Given the description of an element on the screen output the (x, y) to click on. 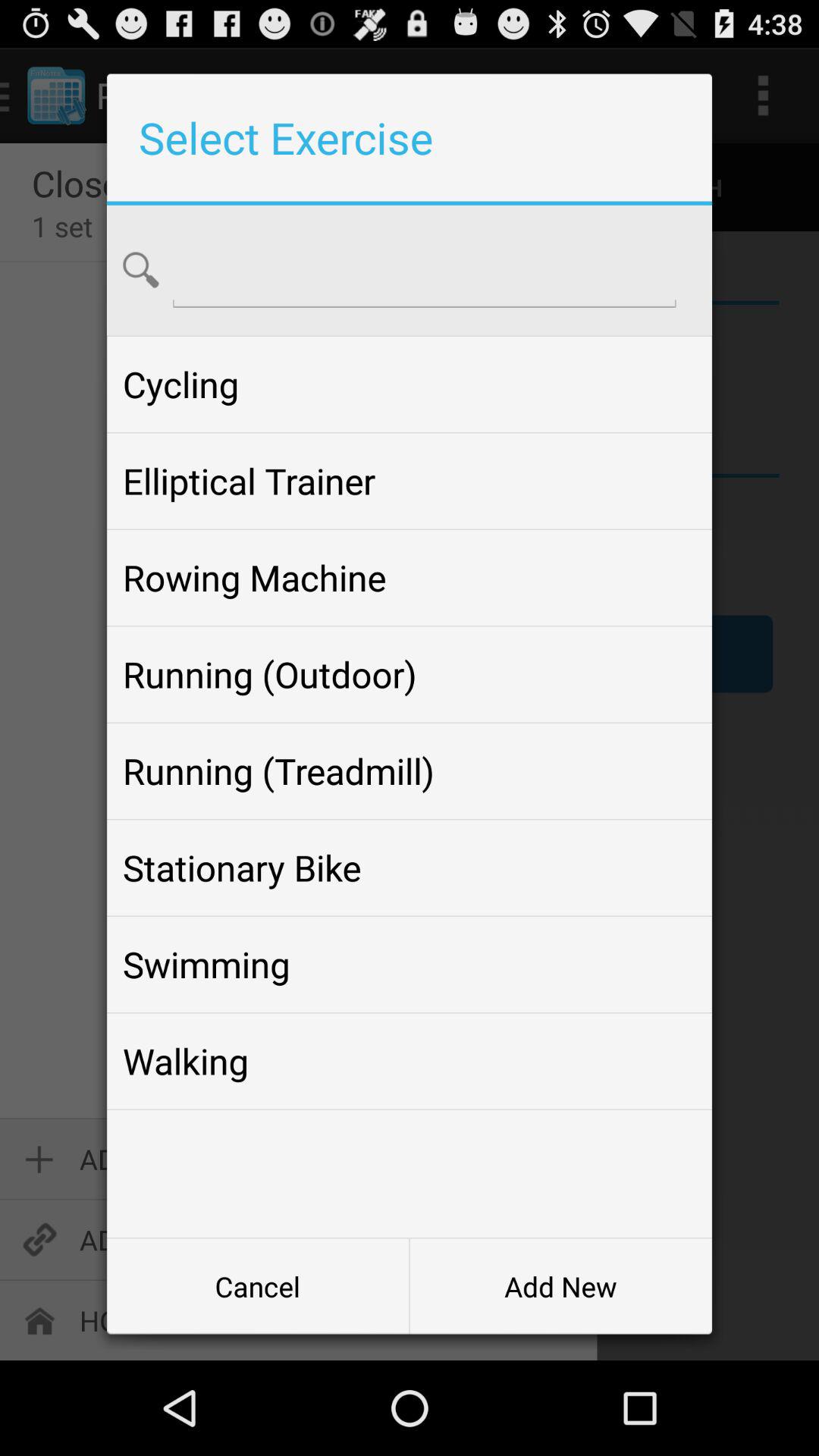
click the rowing machine item (409, 577)
